Given the description of an element on the screen output the (x, y) to click on. 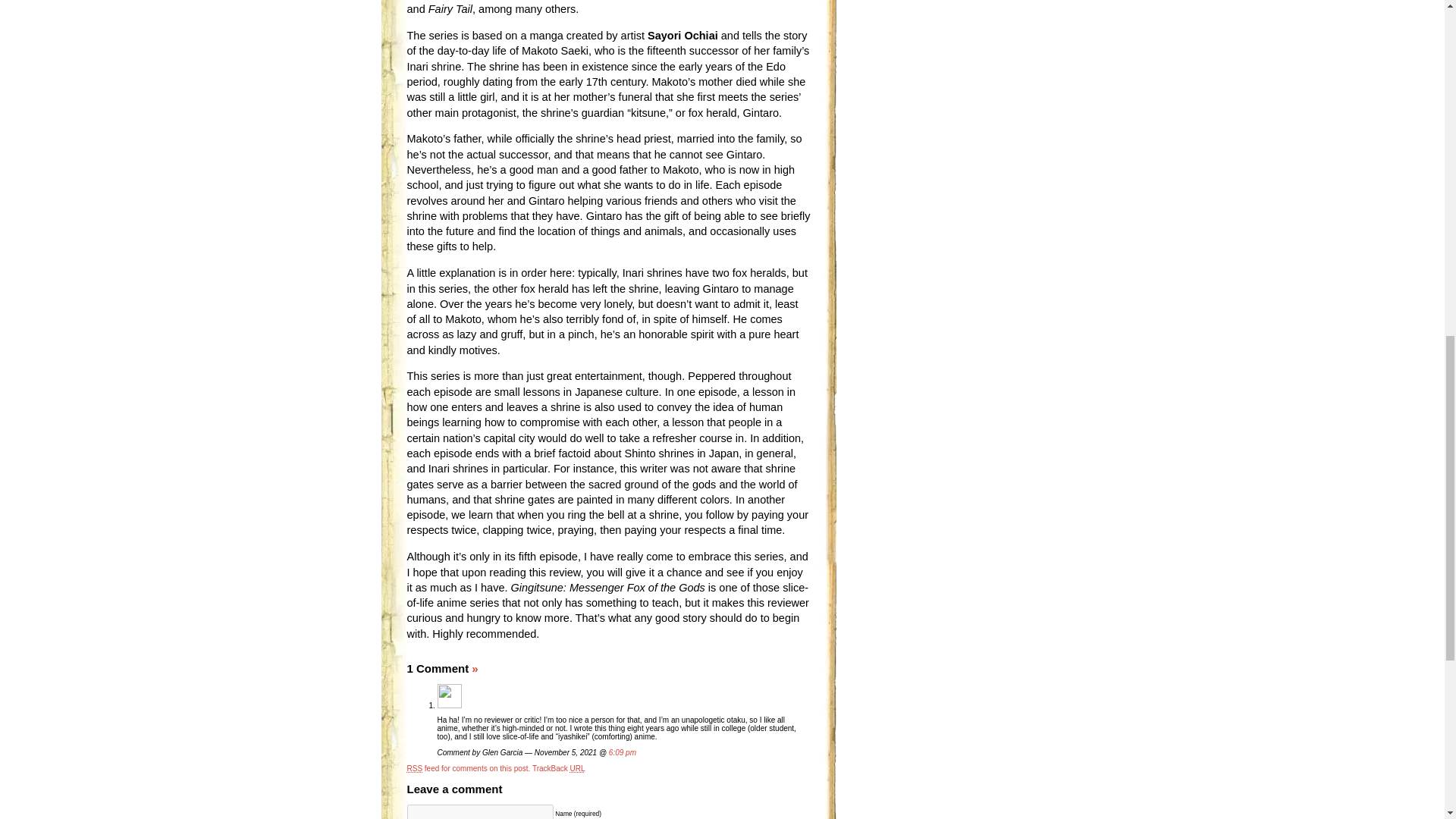
Universal Resource Locator (577, 768)
TrackBack URL (558, 768)
6:09 pm (622, 752)
RSS feed for comments on this post. (467, 768)
Really Simple Syndication (414, 768)
